Given the description of an element on the screen output the (x, y) to click on. 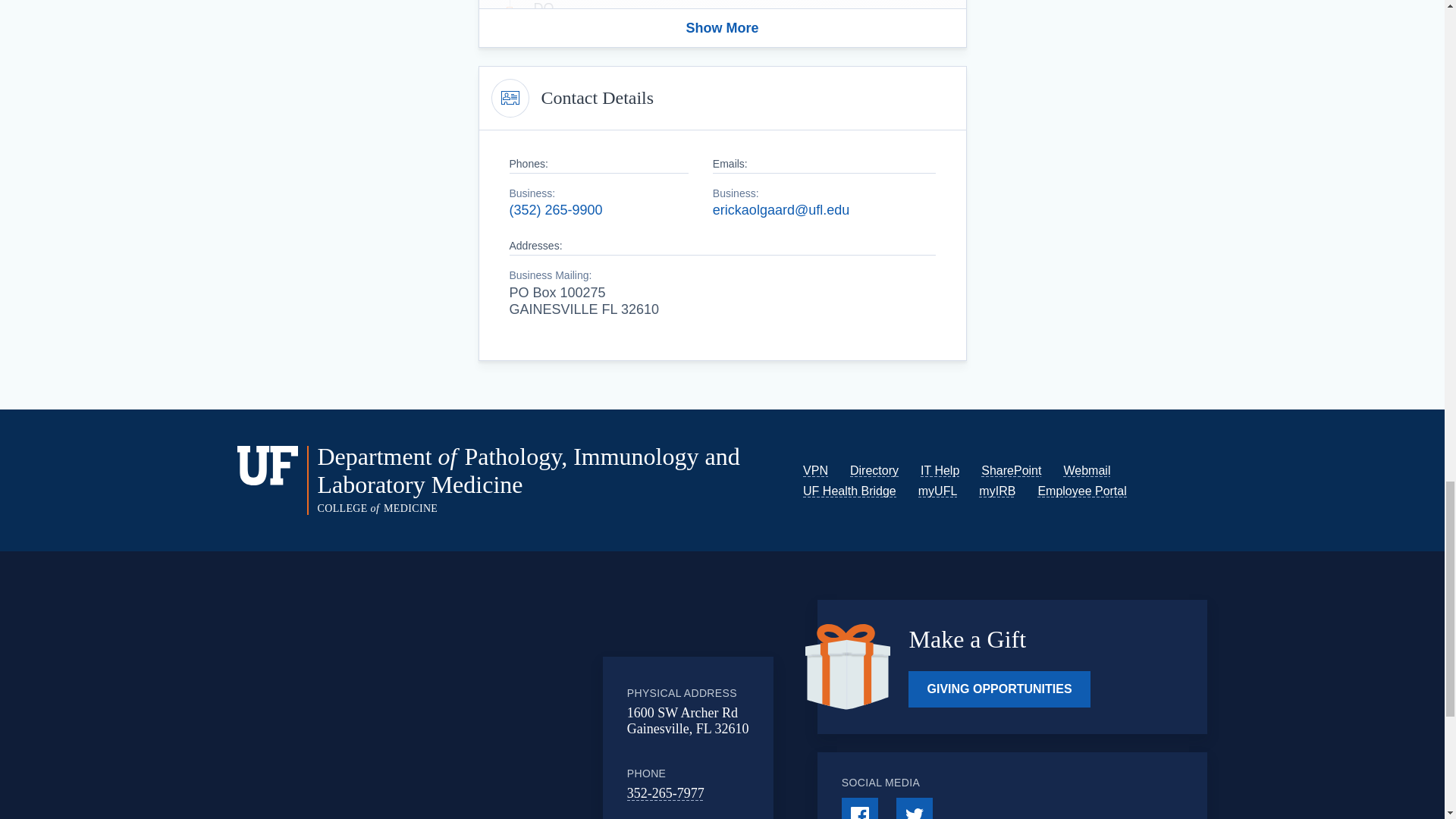
IT Help (939, 470)
Employee Portal (1080, 490)
UF Health Bridge (849, 490)
myUFL (938, 490)
Directory (874, 470)
Webmail (1085, 470)
352-265-7977 (665, 792)
VPN (815, 470)
Google Maps Embed (478, 711)
SharePoint (1011, 470)
myIRB (996, 490)
